Given the description of an element on the screen output the (x, y) to click on. 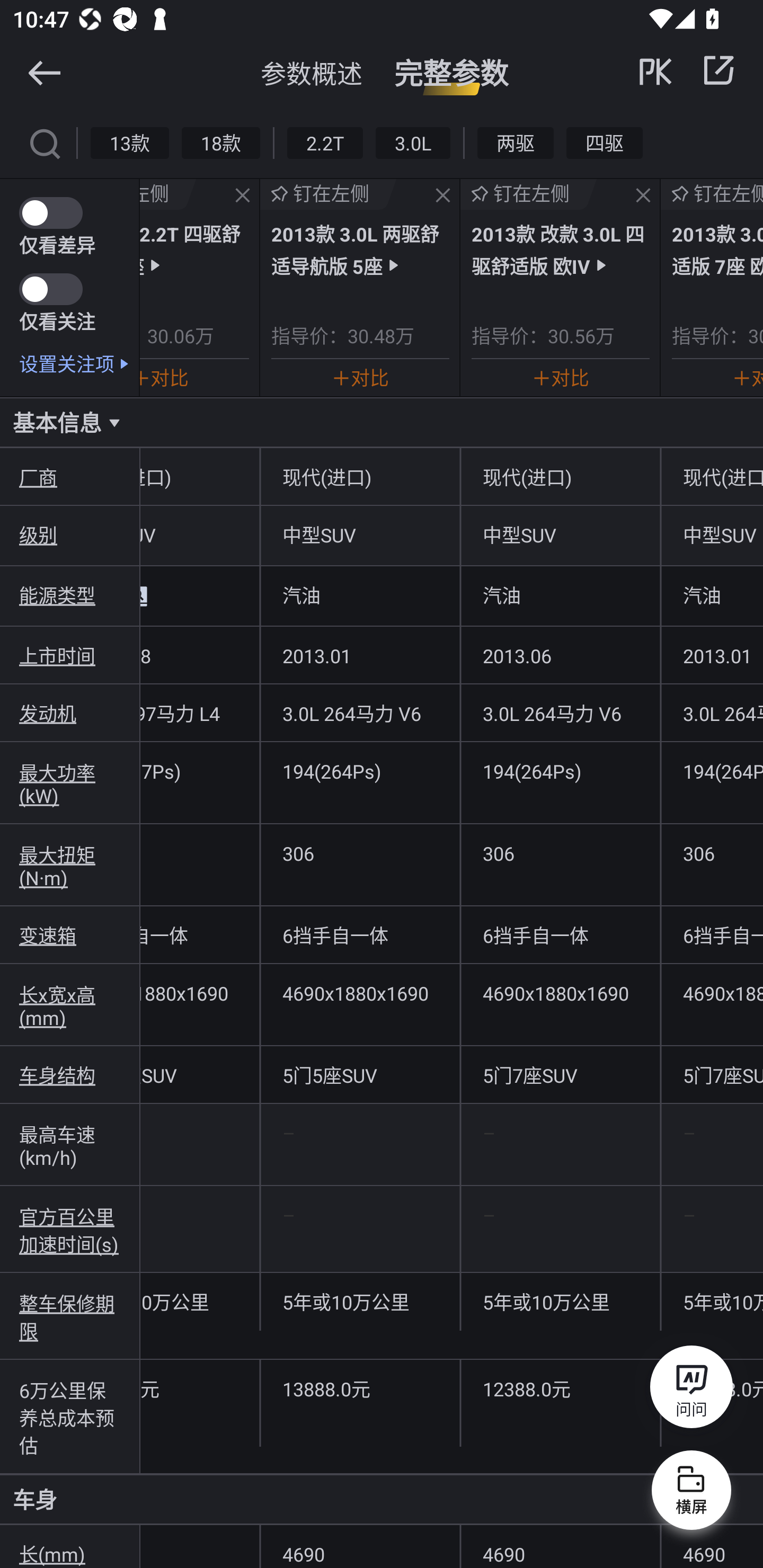
  (688, 70)
参数概述 (311, 72)
 (718, 70)
 (44, 71)
 (44, 142)
13款 (129, 142)
18款 (220, 142)
2.2T (324, 142)
3.0L (412, 142)
两驱 (515, 142)
四驱 (604, 142)
 (242, 195)
 钉在左侧 (328, 194)
 (442, 195)
 钉在左侧 (528, 194)
 (642, 195)
 钉在左侧 (711, 194)
2013款 2.2T 四驱舒适版 7座  (193, 249)
2013款 3.0L 两驱舒适导航版 5座  (360, 249)
2013款 改款 3.0L 四驱舒适版 欧IV  (560, 249)
2013款 3.0L 四驱舒适版 7座 欧IV  (717, 249)
设置关注项  (79, 363)
对比 (163, 377)
对比 (360, 377)
对比 (560, 377)
基本信息  (381, 422)
厂商 (69, 477)
现代(进口) (360, 477)
现代(进口) (560, 477)
现代(进口) (711, 477)
级别 (69, 534)
中型SUV (360, 534)
中型SUV (560, 534)
中型SUV (711, 534)
能源类型 (69, 595)
汽油 (360, 595)
汽油 (560, 595)
汽油 (711, 595)
上市时间 (69, 655)
2013.01 (360, 655)
2013.06 (560, 655)
2013.01 (711, 655)
发动机 (69, 712)
3.0L 264马力 V6 (360, 712)
3.0L 264马力 V6 (560, 712)
3.0L 264马力 V6 (711, 712)
最大功率(kW) (69, 782)
194(264Ps) (360, 770)
194(264Ps) (560, 770)
194(264Ps) (711, 770)
最大扭矩(N·m) (69, 865)
306 (360, 852)
306 (560, 852)
306 (711, 852)
变速箱 (69, 935)
6挡手自一体 (360, 935)
6挡手自一体 (560, 935)
6挡手自一体 (711, 935)
长x宽x高(mm) (69, 1004)
4690x1880x1690 (360, 993)
4690x1880x1690 (560, 993)
4690x1880x1690 (711, 993)
车身结构 (69, 1074)
5门5座SUV (360, 1074)
5门7座SUV (560, 1074)
5门7座SUV (711, 1074)
最高车速(km/h) (69, 1144)
官方百公里加速时间(s) (69, 1229)
整车保修期限 (69, 1316)
5年或10万公里 (360, 1302)
5年或10万公里 (560, 1302)
5年或10万公里 (711, 1302)
 问问 (691, 1389)
6万公里保养总成本预估 (69, 1416)
13888.0元 (360, 1388)
12388.0元 (560, 1388)
长(mm) (69, 1546)
4690 (360, 1546)
4690 (560, 1546)
4690 (711, 1546)
